Given the description of an element on the screen output the (x, y) to click on. 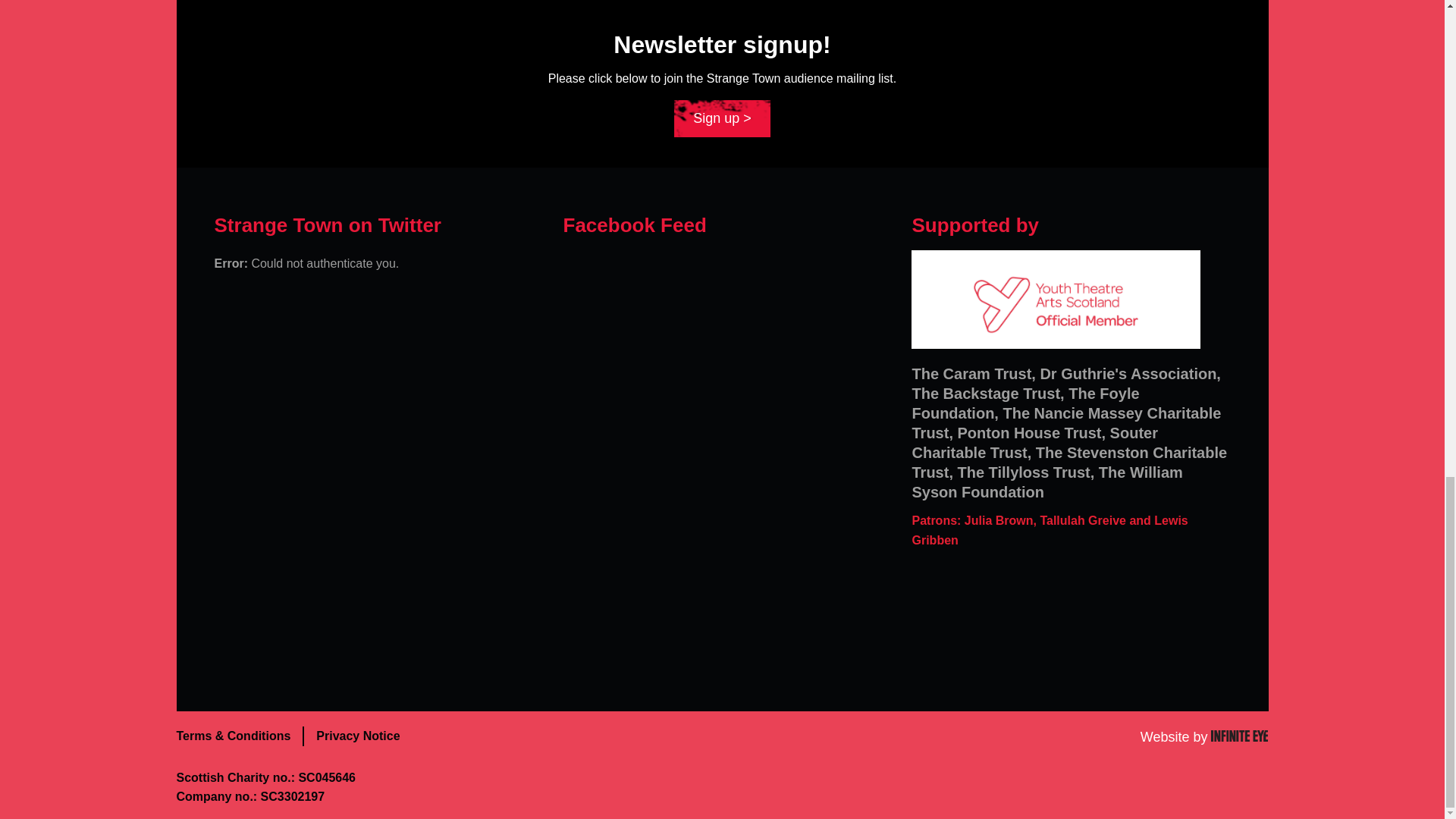
Website by Infinite Eye (1204, 736)
Website by Infinite Eye (1204, 736)
Privacy Notice (358, 735)
